Given the description of an element on the screen output the (x, y) to click on. 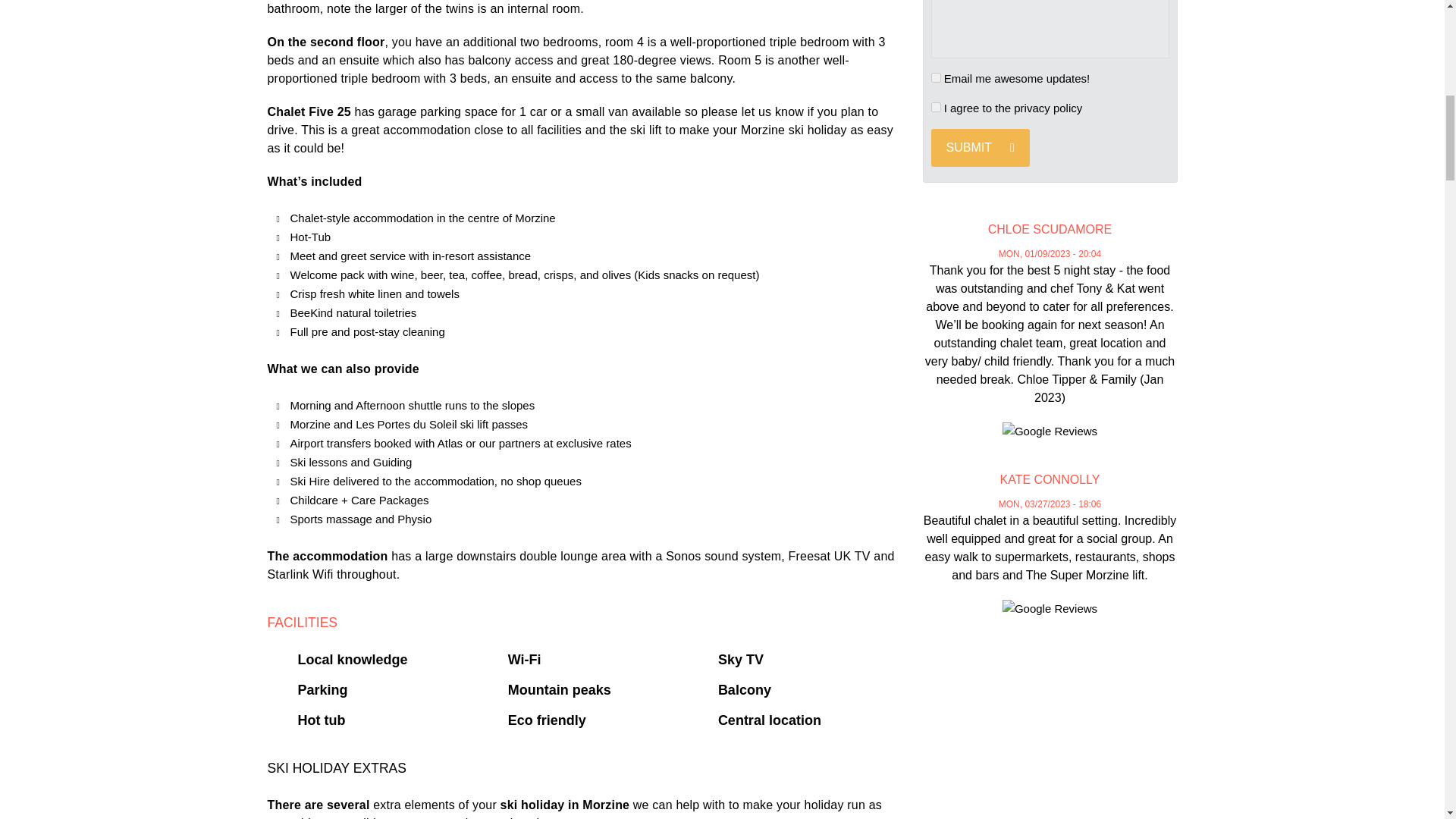
1 (935, 106)
1 (935, 77)
